Given the description of an element on the screen output the (x, y) to click on. 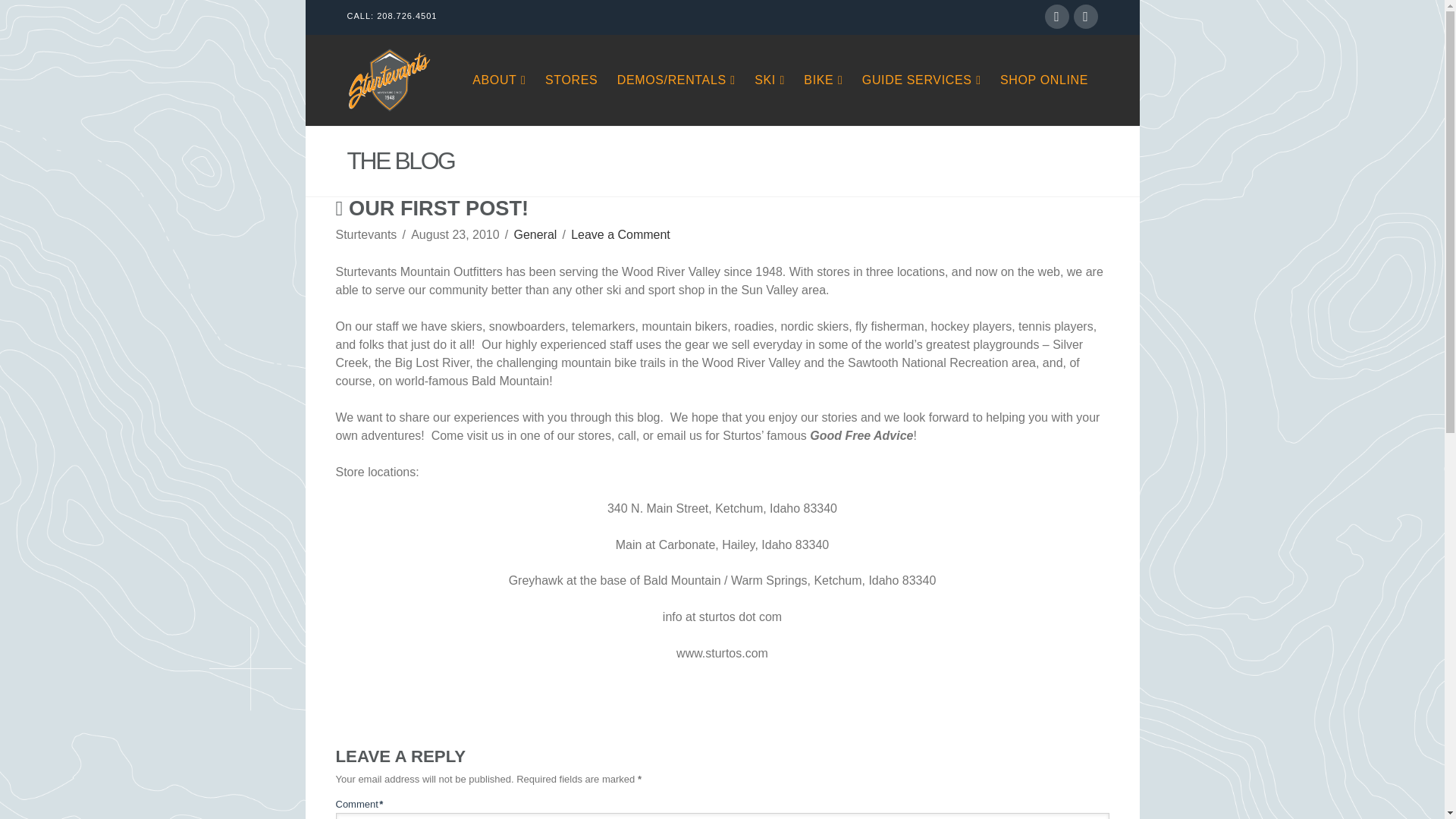
STORES (571, 80)
ABOUT (499, 80)
BIKE (822, 80)
Instagram (1085, 16)
SHOP ONLINE (1043, 80)
Facebook (1056, 16)
208.726.4501 (406, 15)
SKI (768, 80)
GUIDE SERVICES (920, 80)
